Given the description of an element on the screen output the (x, y) to click on. 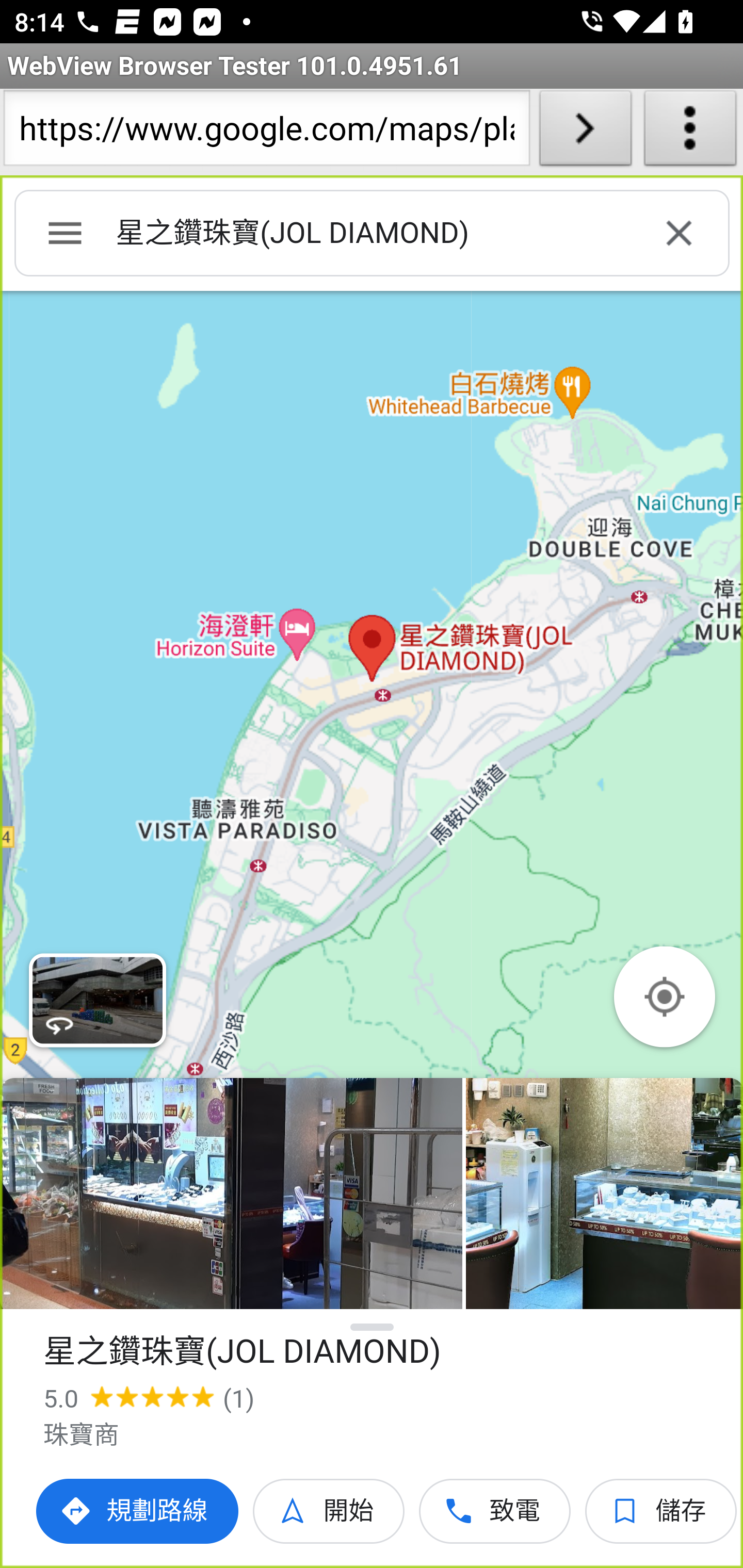
Load URL (585, 132)
About WebView (690, 132)
第 1 張相片 (共 6 張) (231, 1193)
第 2 張相片 (共 6 張) (604, 1193)
顯示詳細資料 (372, 1327)
前往星之鑽珠寶(JOL DIAMOND)的路線 (137, 1511)
開始 (329, 1511)
致電「星之鑽珠寶(JOL DIAMOND)」  致電 (495, 1511)
將「星之鑽珠寶(JOL DIAMOND)」儲存至清單中 (661, 1511)
